Given the description of an element on the screen output the (x, y) to click on. 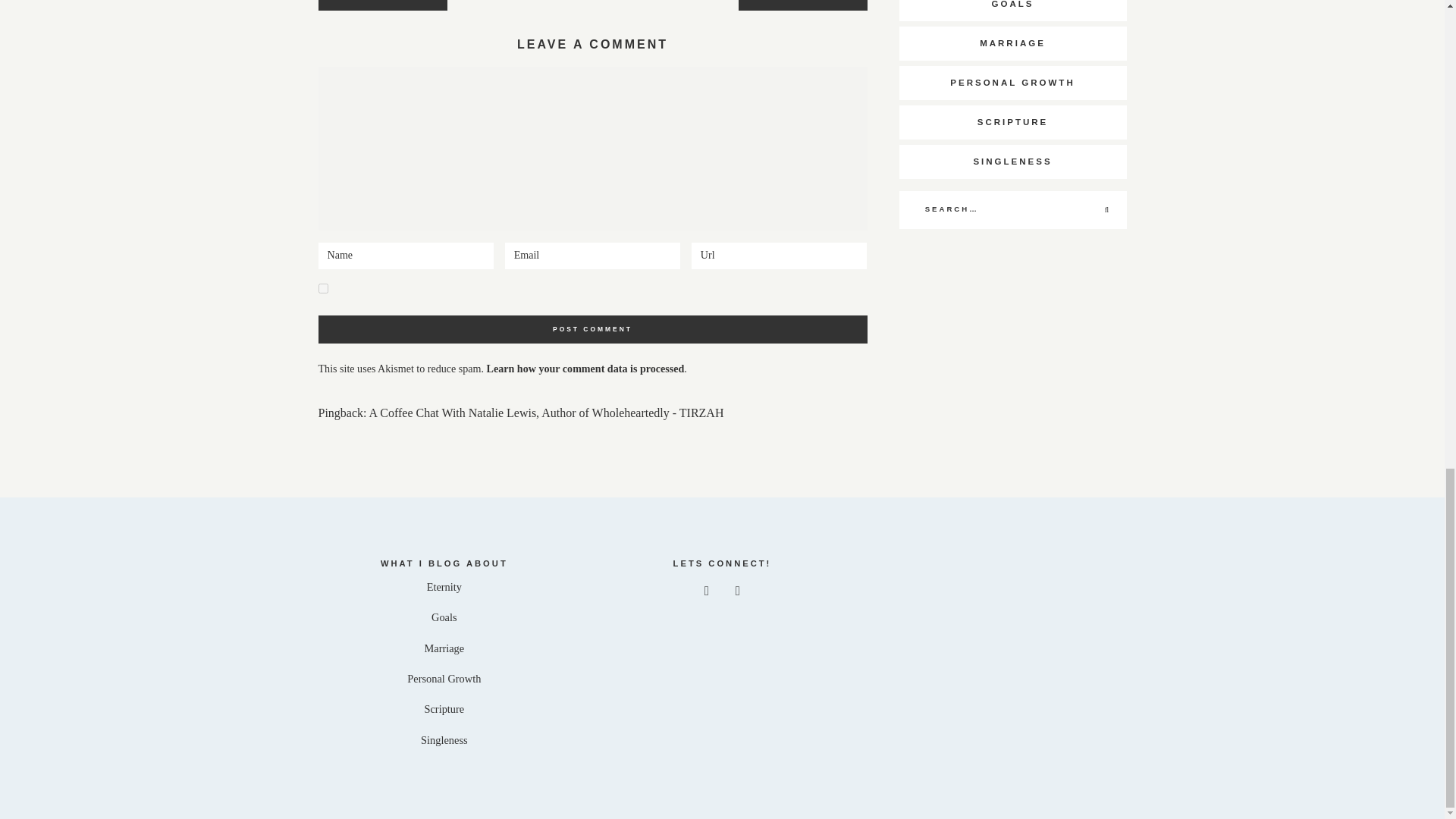
MARRIAGE (1012, 43)
Scripture (443, 708)
yes (323, 288)
GOALS (1012, 10)
Singleness (443, 739)
Post Comment (592, 329)
PERSONAL GROWTH (1012, 82)
Learn how your comment data is processed (585, 368)
Post Comment (592, 329)
